Given the description of an element on the screen output the (x, y) to click on. 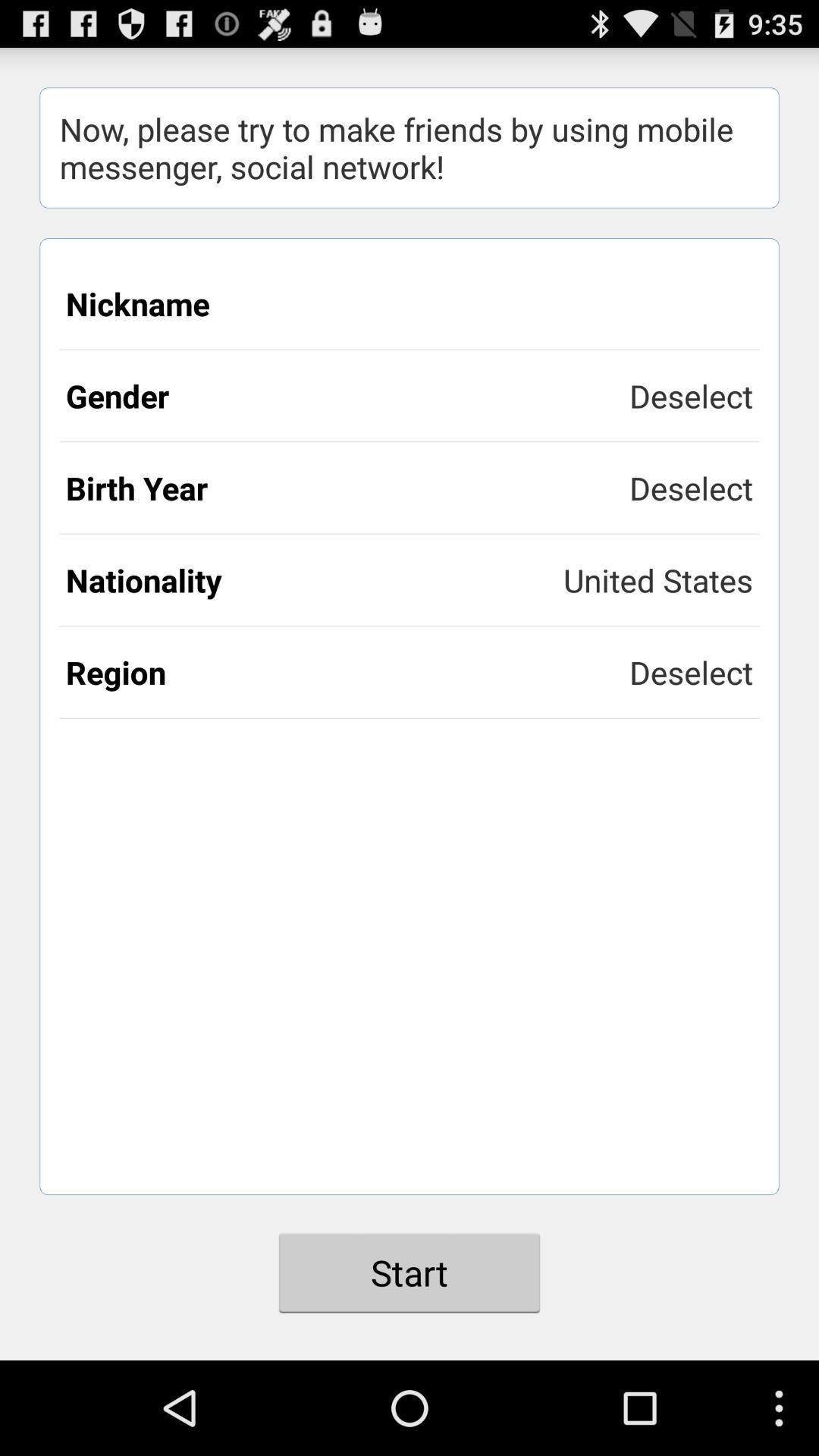
scroll until the nationality item (314, 579)
